Given the description of an element on the screen output the (x, y) to click on. 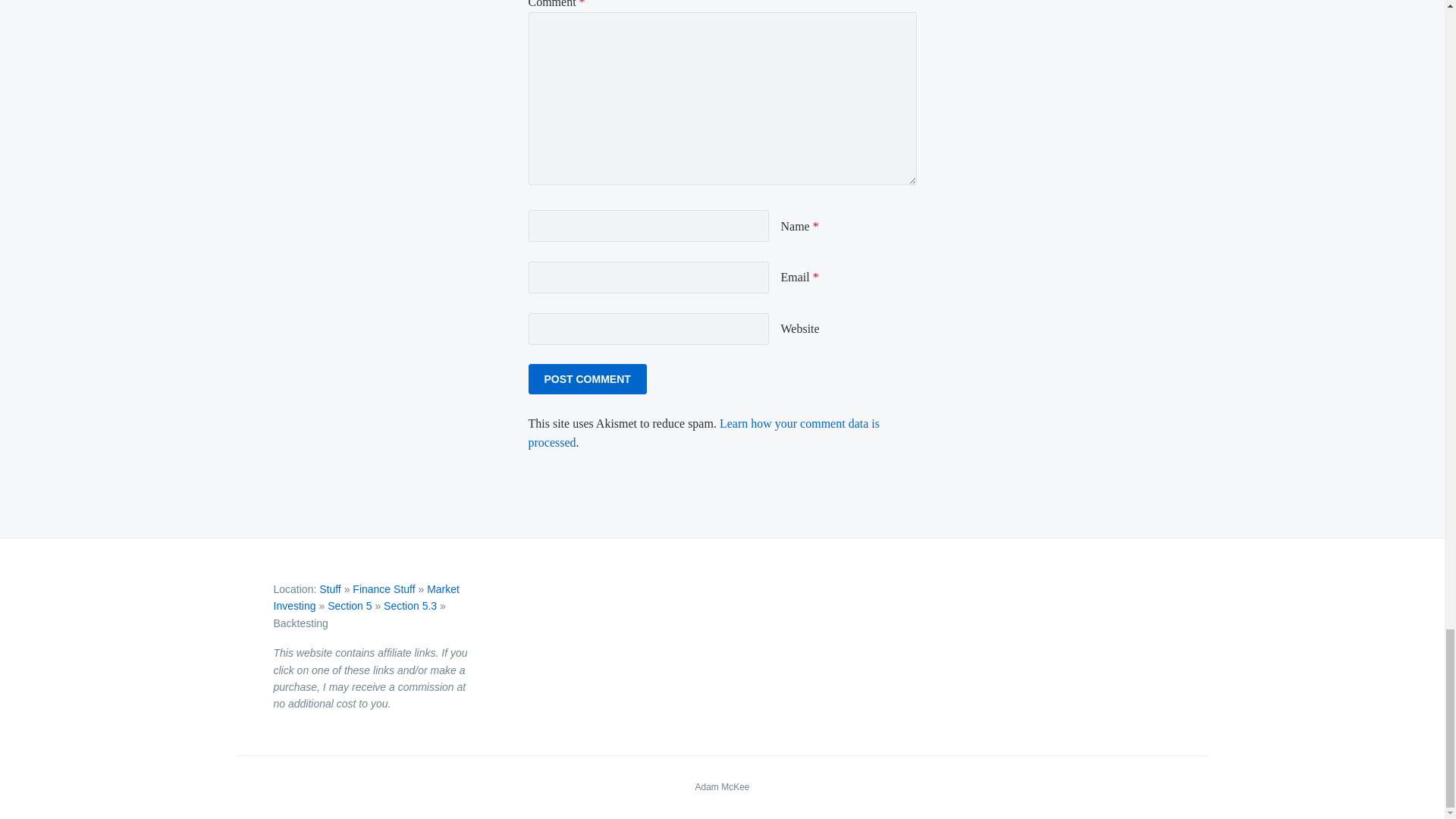
Post Comment (586, 378)
